Given the description of an element on the screen output the (x, y) to click on. 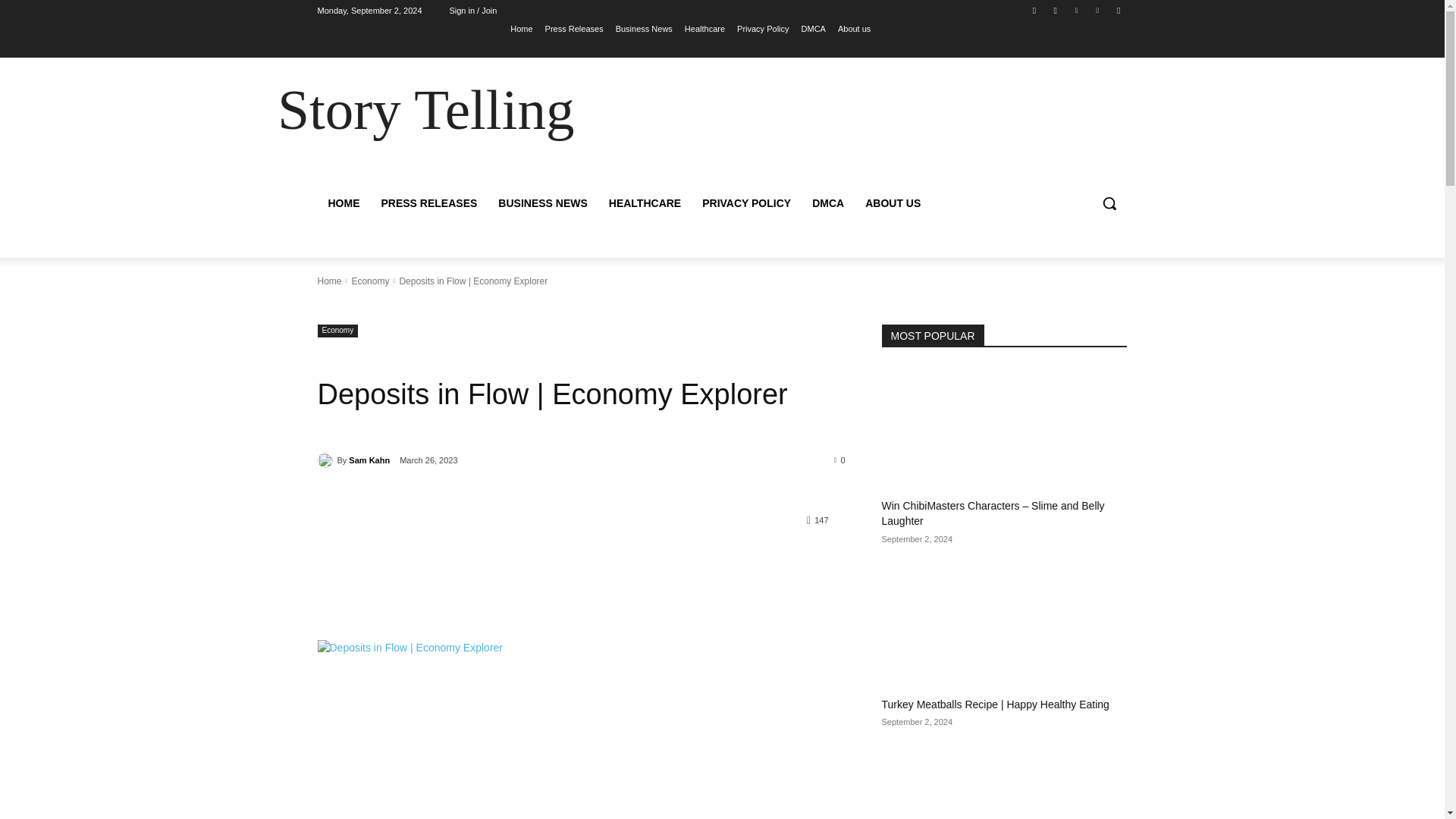
Instagram (1055, 9)
Vimeo (1097, 9)
Youtube (1117, 9)
Home (521, 28)
Twitter (1075, 9)
Facebook (1034, 9)
